Given the description of an element on the screen output the (x, y) to click on. 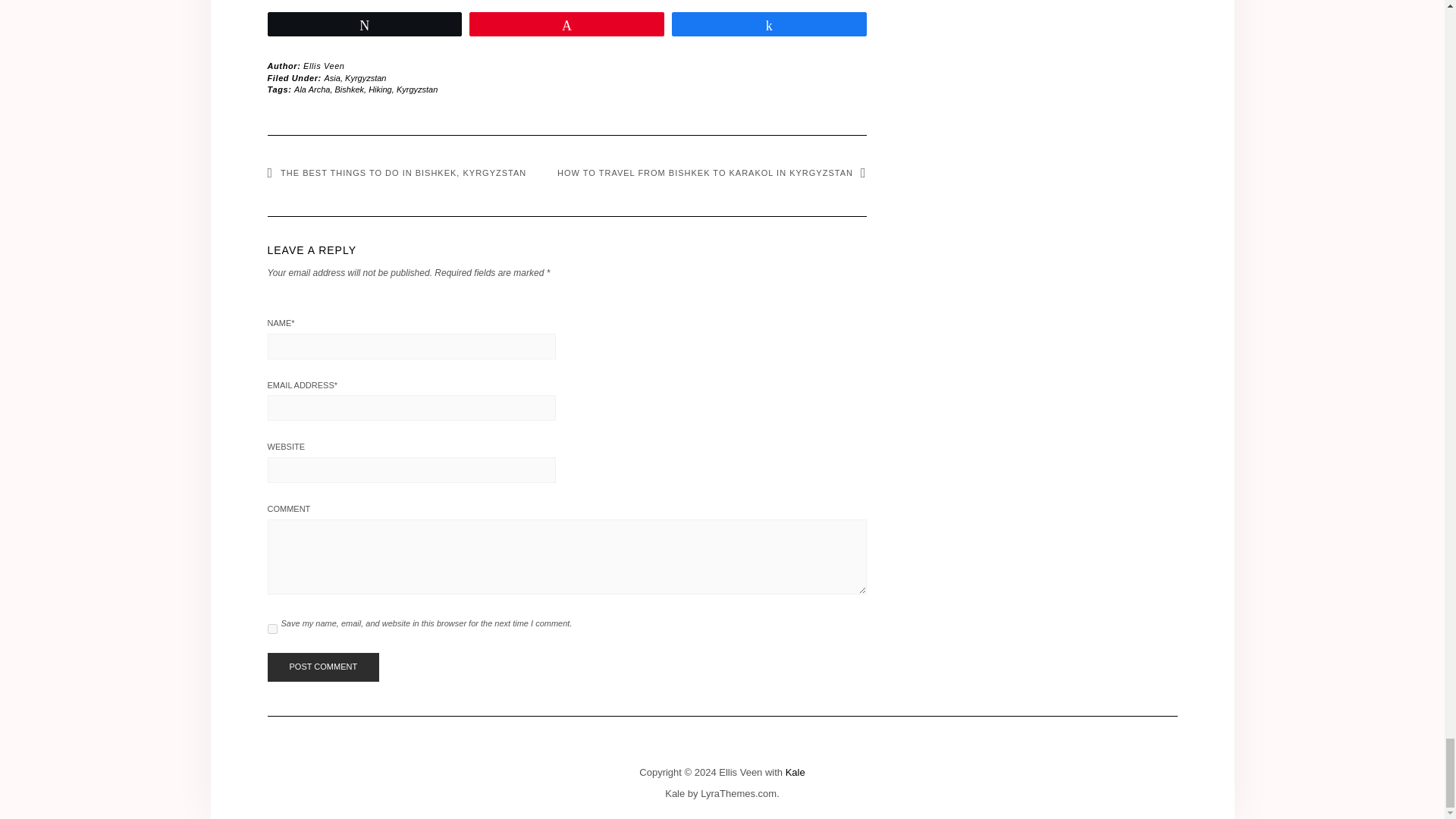
yes (271, 628)
Posts by Ellis Veen (323, 65)
Post Comment (322, 666)
